Given the description of an element on the screen output the (x, y) to click on. 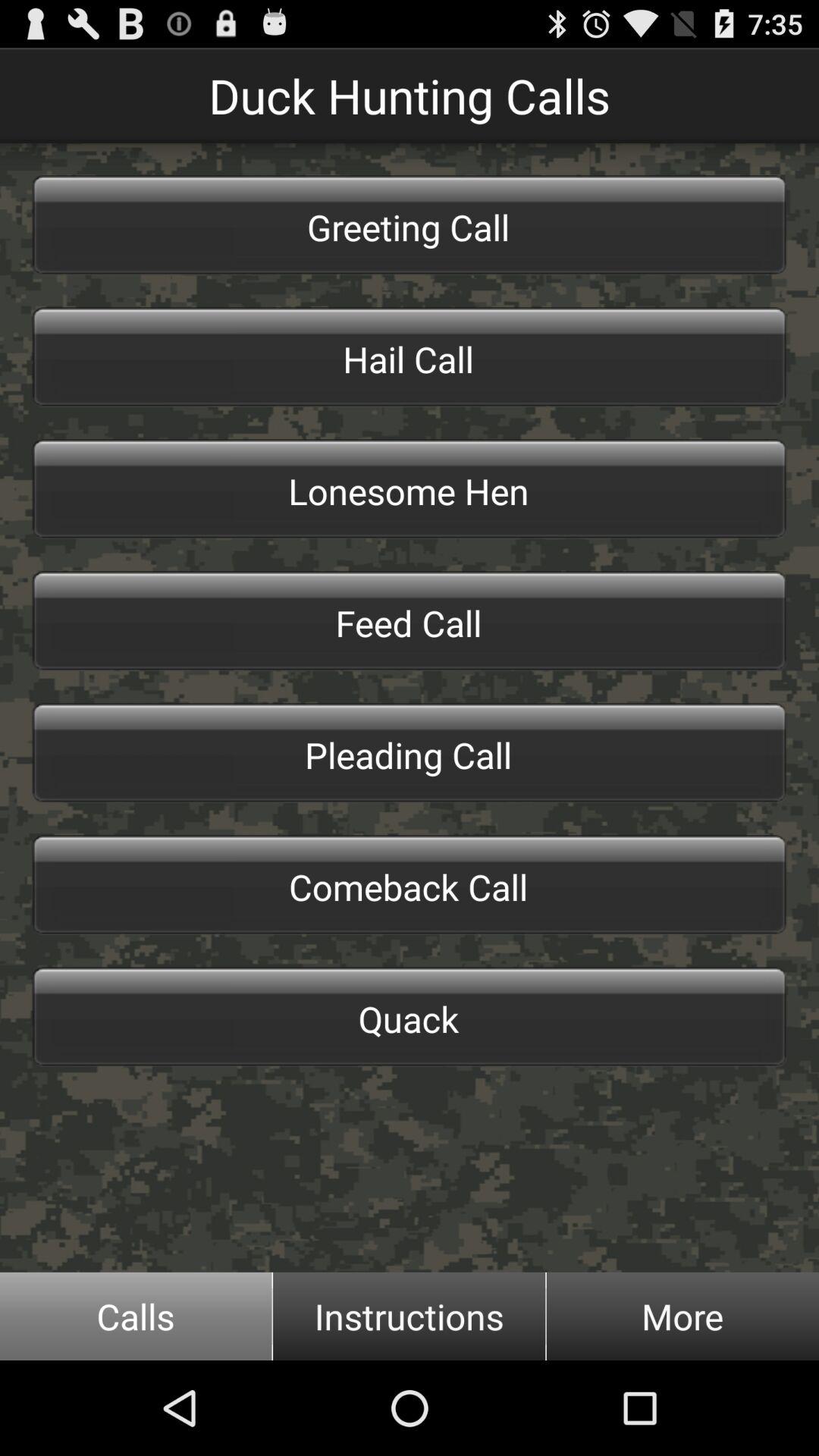
scroll to pleading call icon (409, 752)
